Given the description of an element on the screen output the (x, y) to click on. 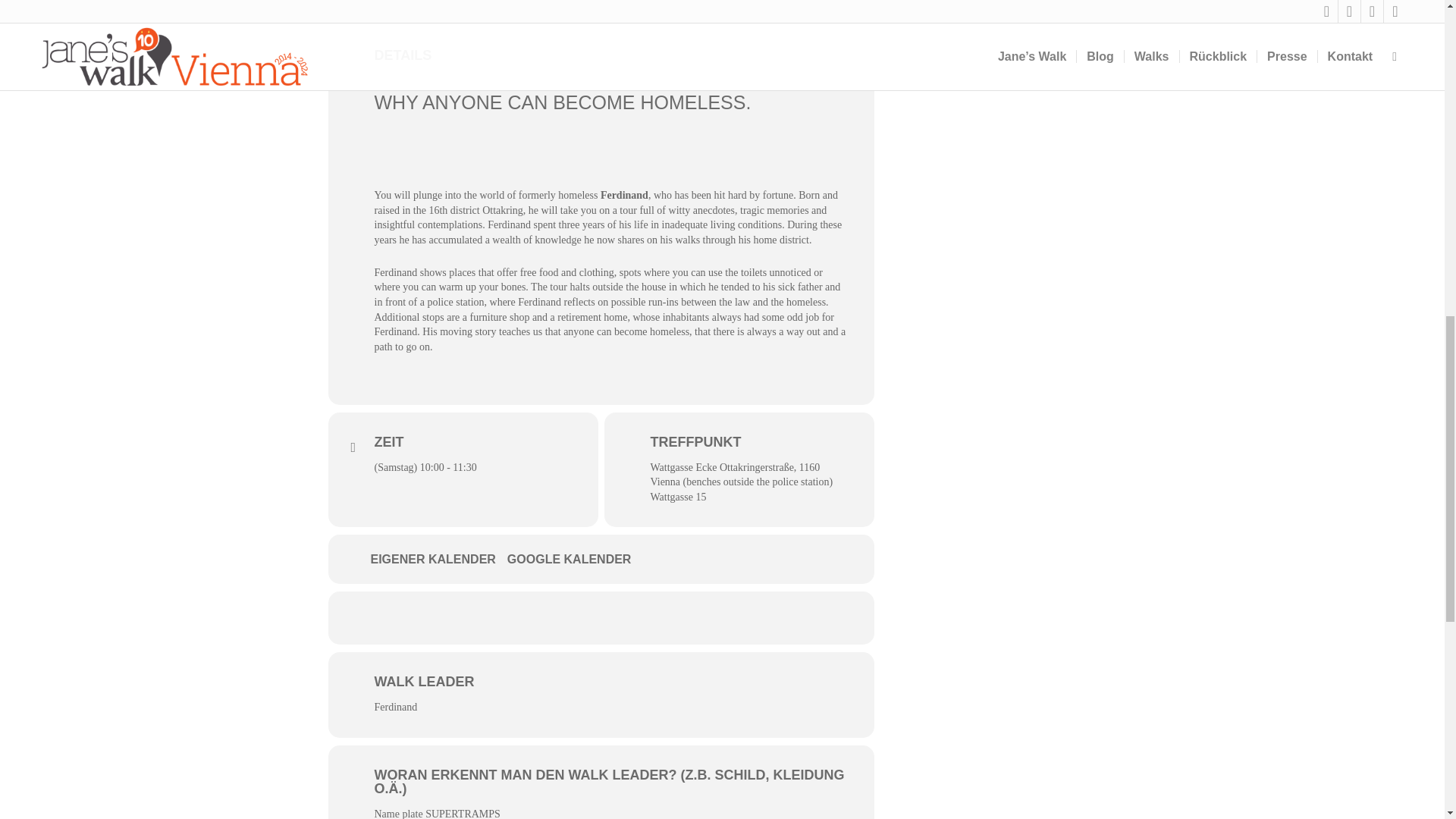
Auf Facebook teilen (532, 617)
Auf LinkedIn teilen (624, 617)
Auf Twitter teilen (577, 617)
